Given the description of an element on the screen output the (x, y) to click on. 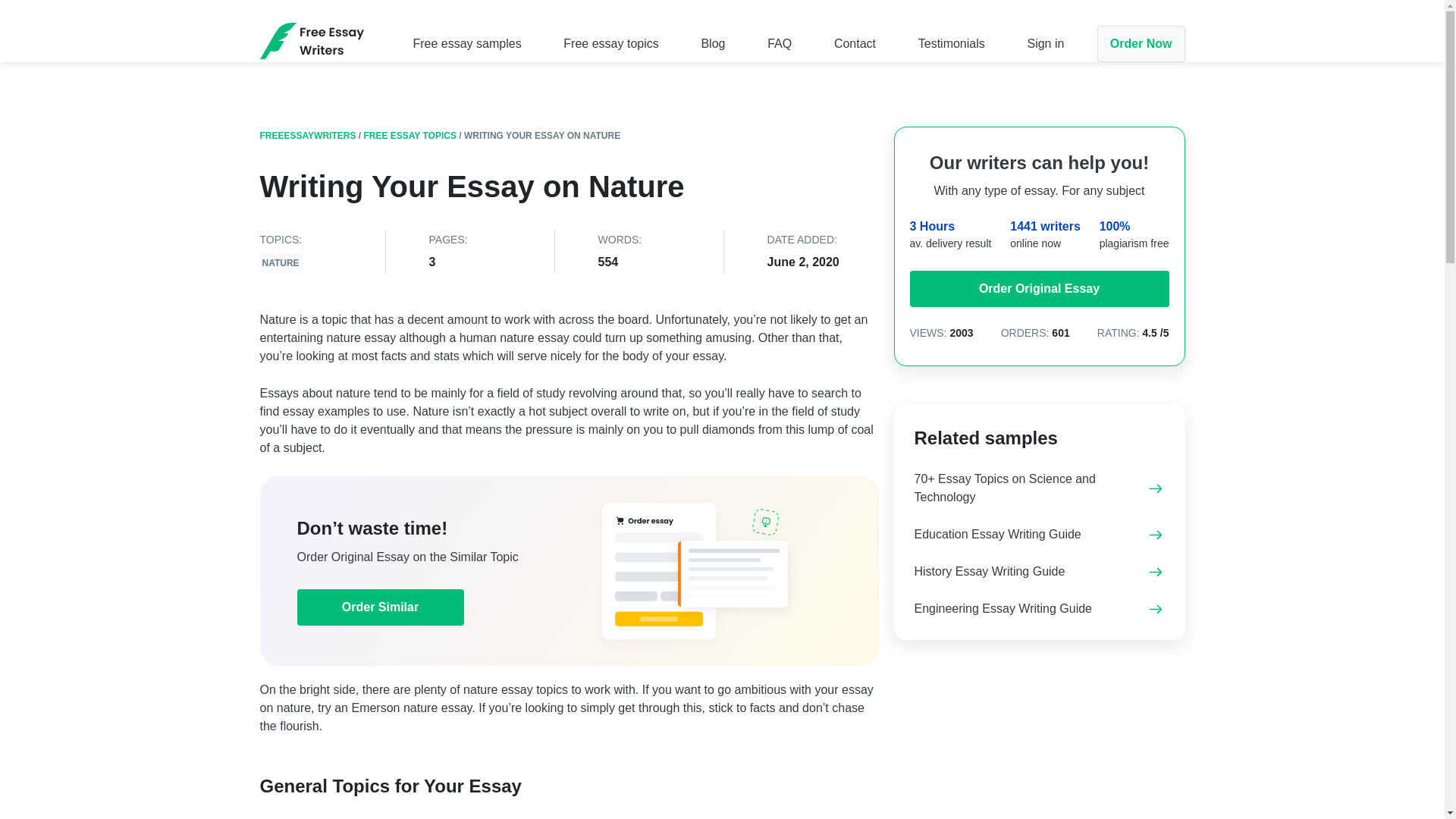
Contact (855, 42)
Free essay topics (610, 42)
Blog (712, 42)
Engineering Essay Writing Guide (1003, 608)
Free essay samples (466, 42)
Engineering Essay Writing Guide (1003, 608)
FAQ (779, 42)
Order Now (1141, 43)
Sign in (1045, 42)
Education Essay Writing Guide (997, 533)
Order Similar (380, 606)
Education Essay Writing Guide (997, 533)
History Essay Writing Guide (989, 571)
Testimonials (951, 42)
Order Original Essay (1039, 289)
